Given the description of an element on the screen output the (x, y) to click on. 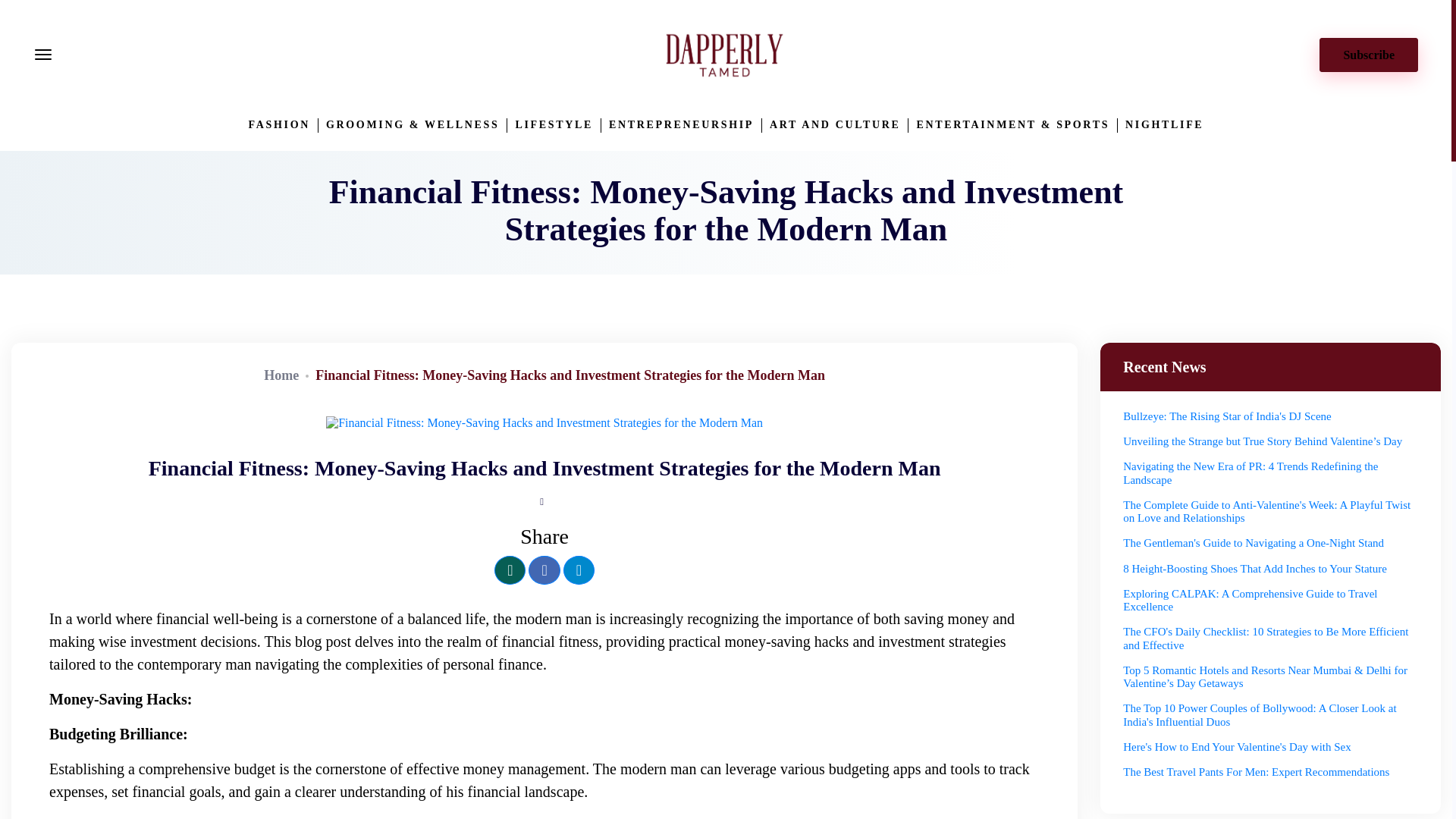
8 Height-Boosting Shoes That Add Inches to Your Stature (1254, 568)
FASHION (279, 124)
Home (280, 375)
The Gentleman's Guide to Navigating a One-Night Stand (1253, 542)
Here's How to End Your Valentine's Day with Sex (1236, 746)
Bullzeye: The Rising Star of India's DJ Scene (1226, 416)
ART AND CULTURE (834, 124)
ENTREPRENEURSHIP (681, 124)
LIFESTYLE (553, 124)
NIGHTLIFE (1164, 124)
